Given the description of an element on the screen output the (x, y) to click on. 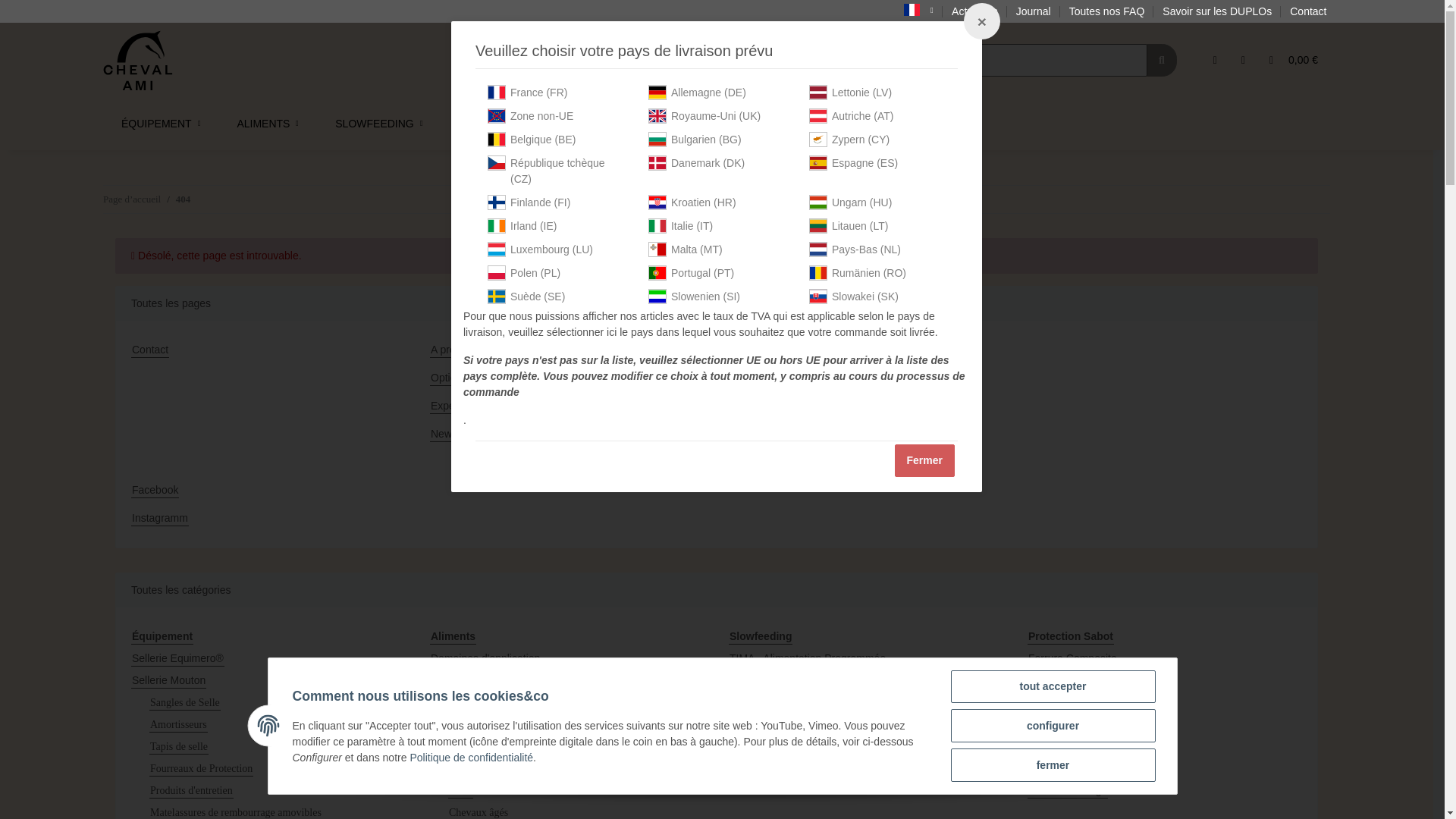
Contact (268, 349)
Contact (1308, 11)
Cheval Ami (138, 59)
Toutes nos FAQ (1106, 11)
SOINS (633, 123)
Options de paiement (566, 377)
A propos de Cheval Ami (566, 349)
PROTECTION SABOT (518, 123)
PROMO (960, 123)
Aliments (267, 123)
